Given the description of an element on the screen output the (x, y) to click on. 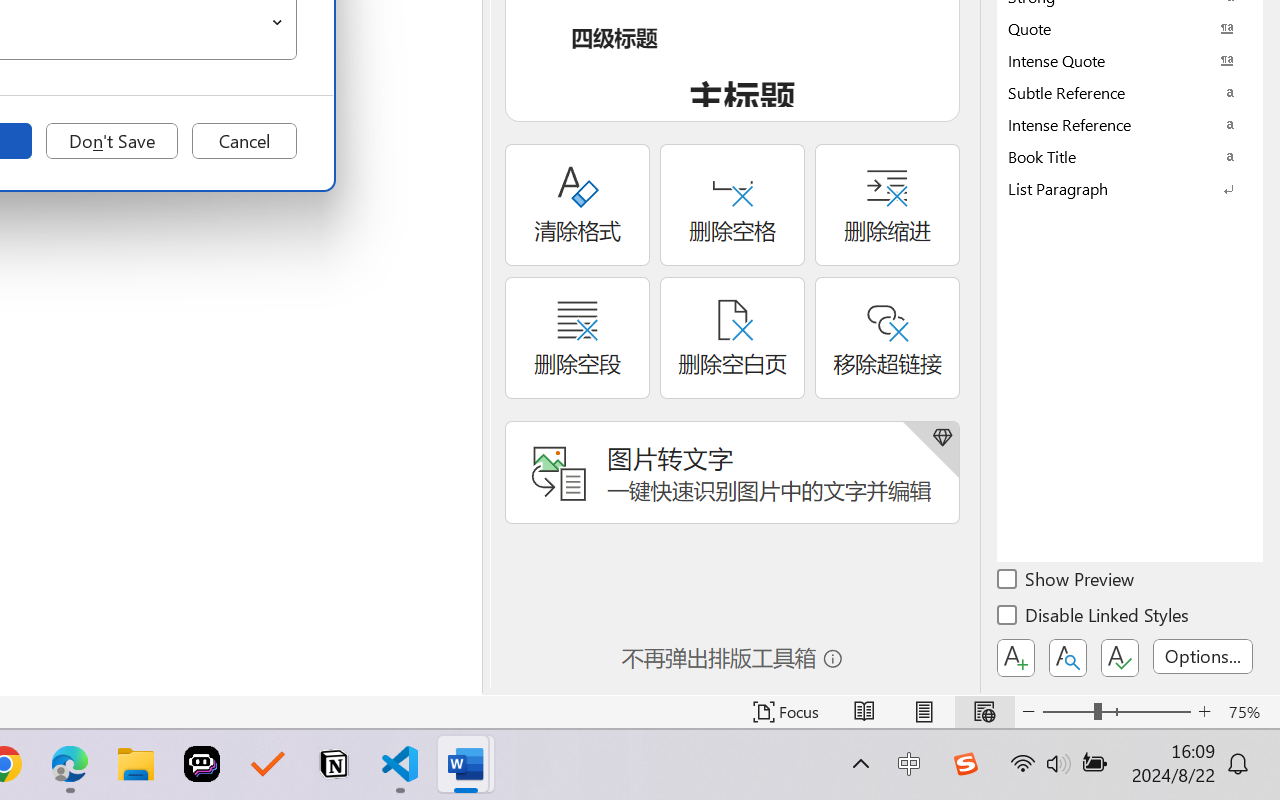
Subtle Reference (1130, 92)
Class: NetUIButton (1119, 657)
Class: NetUIImage (1116, 188)
